Given the description of an element on the screen output the (x, y) to click on. 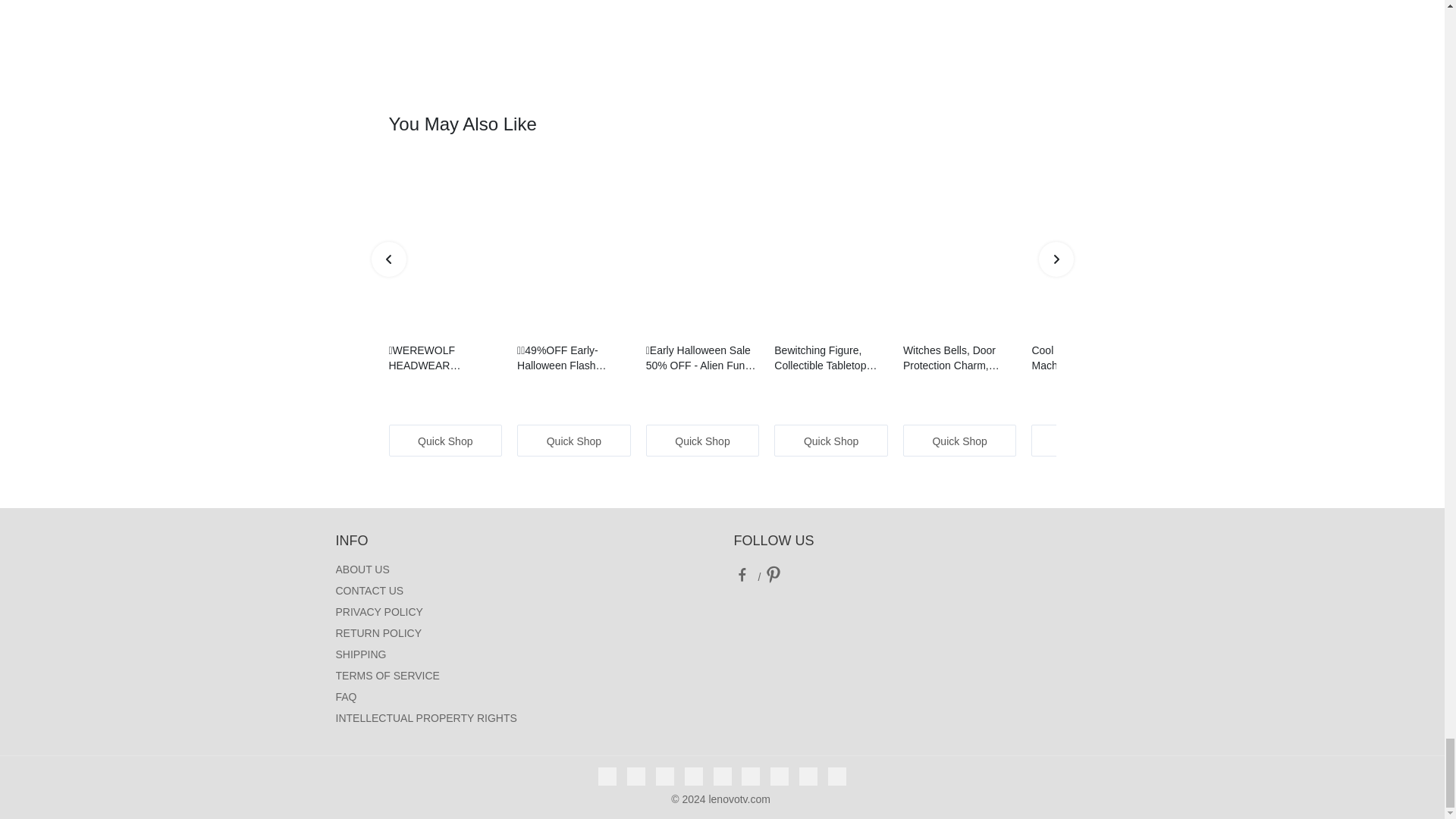
Quick Shop (1217, 440)
Quick Shop (1087, 440)
Quick Shop (573, 440)
Quick Shop (703, 440)
Quick Shop (445, 440)
Quick Shop (831, 440)
Quick Shop (959, 440)
